Given the description of an element on the screen output the (x, y) to click on. 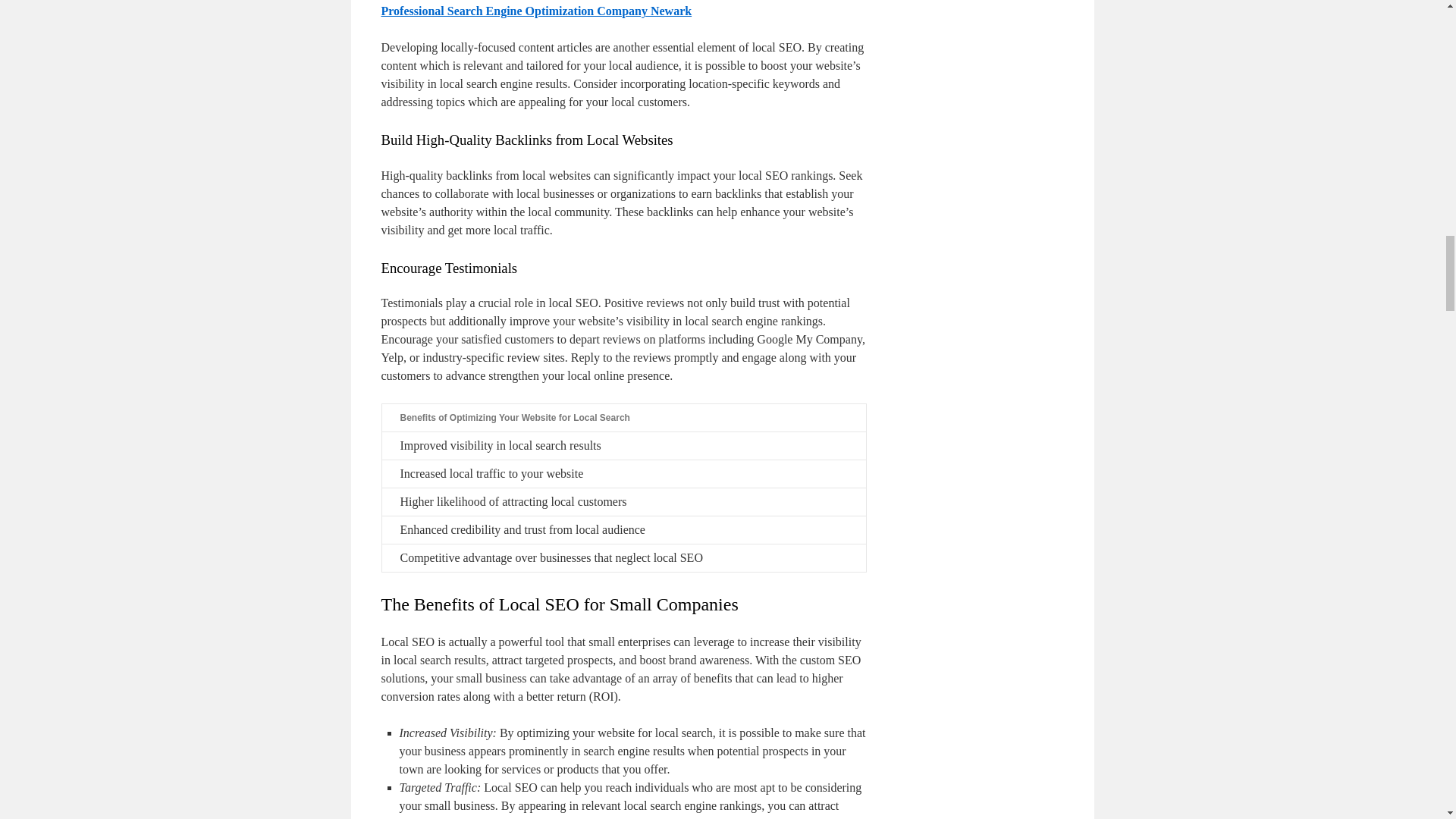
Professional Search Engine Optimization Company Newark (535, 10)
